Given the description of an element on the screen output the (x, y) to click on. 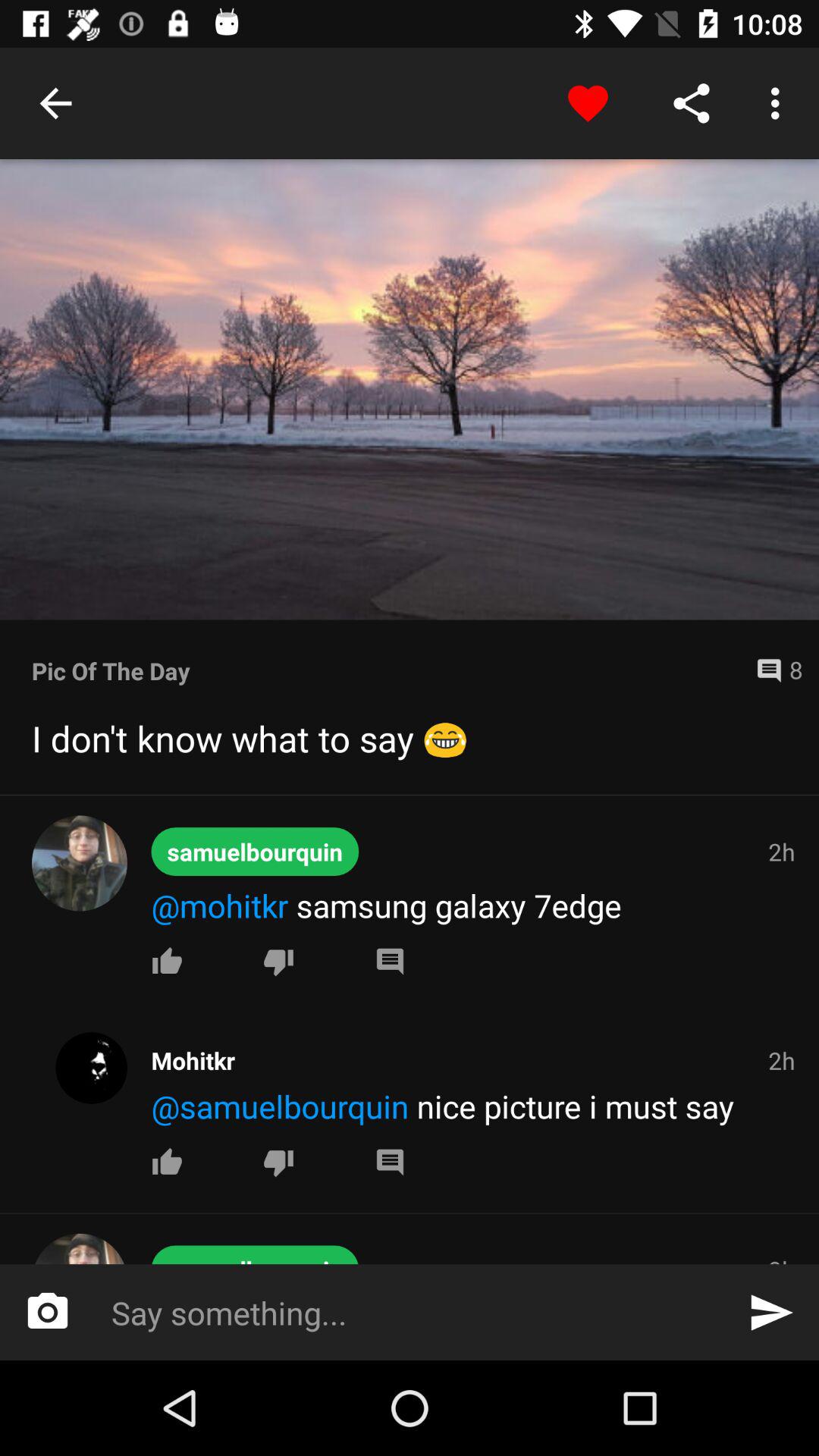
turn off the icon above i don t item (387, 670)
